Given the description of an element on the screen output the (x, y) to click on. 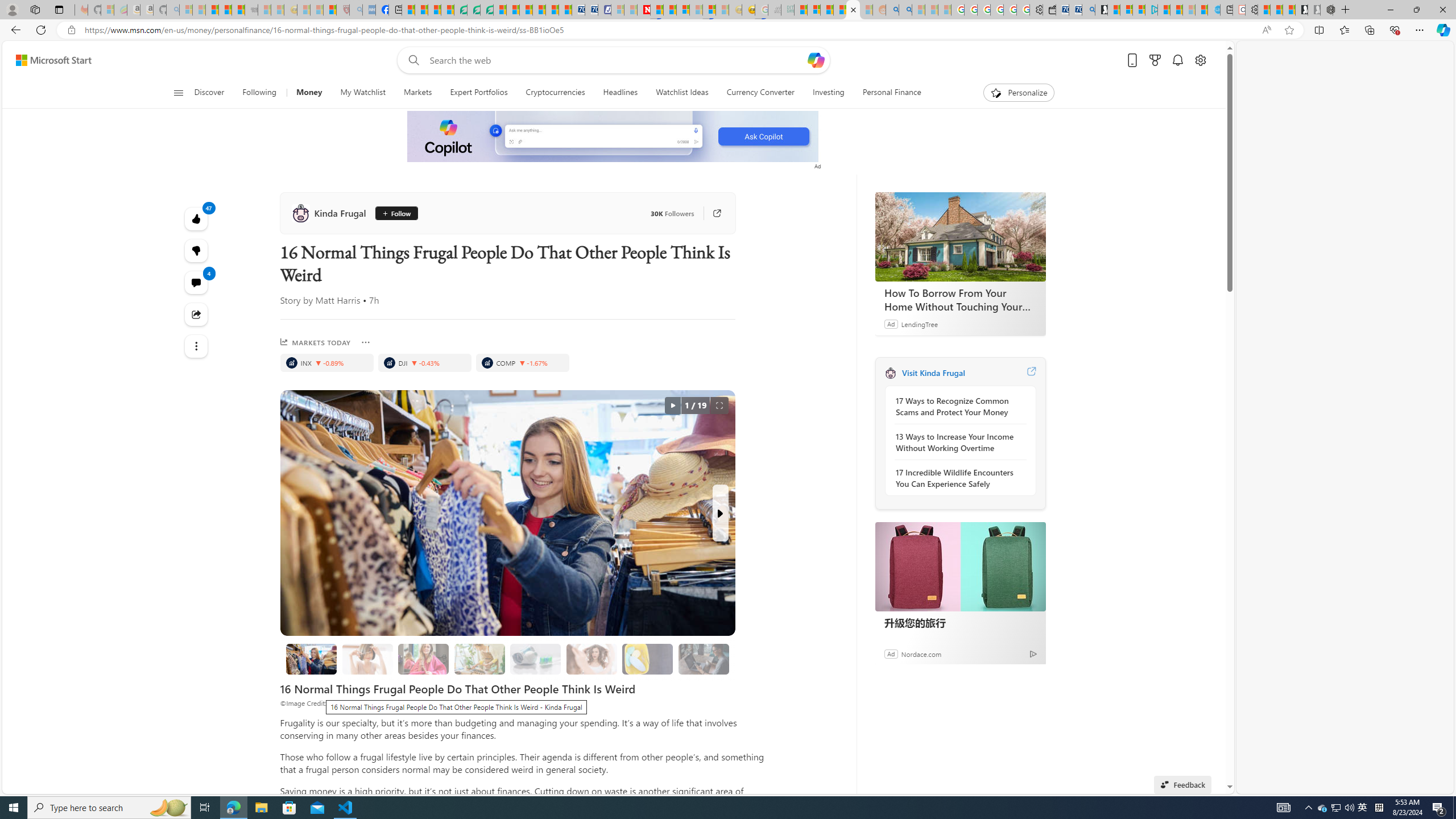
Expert Portfolios (478, 92)
More Options (365, 342)
5. Not Washing Hair (591, 659)
4. Cutting the Bottom off the Toothpaste Tube (535, 658)
